Given the description of an element on the screen output the (x, y) to click on. 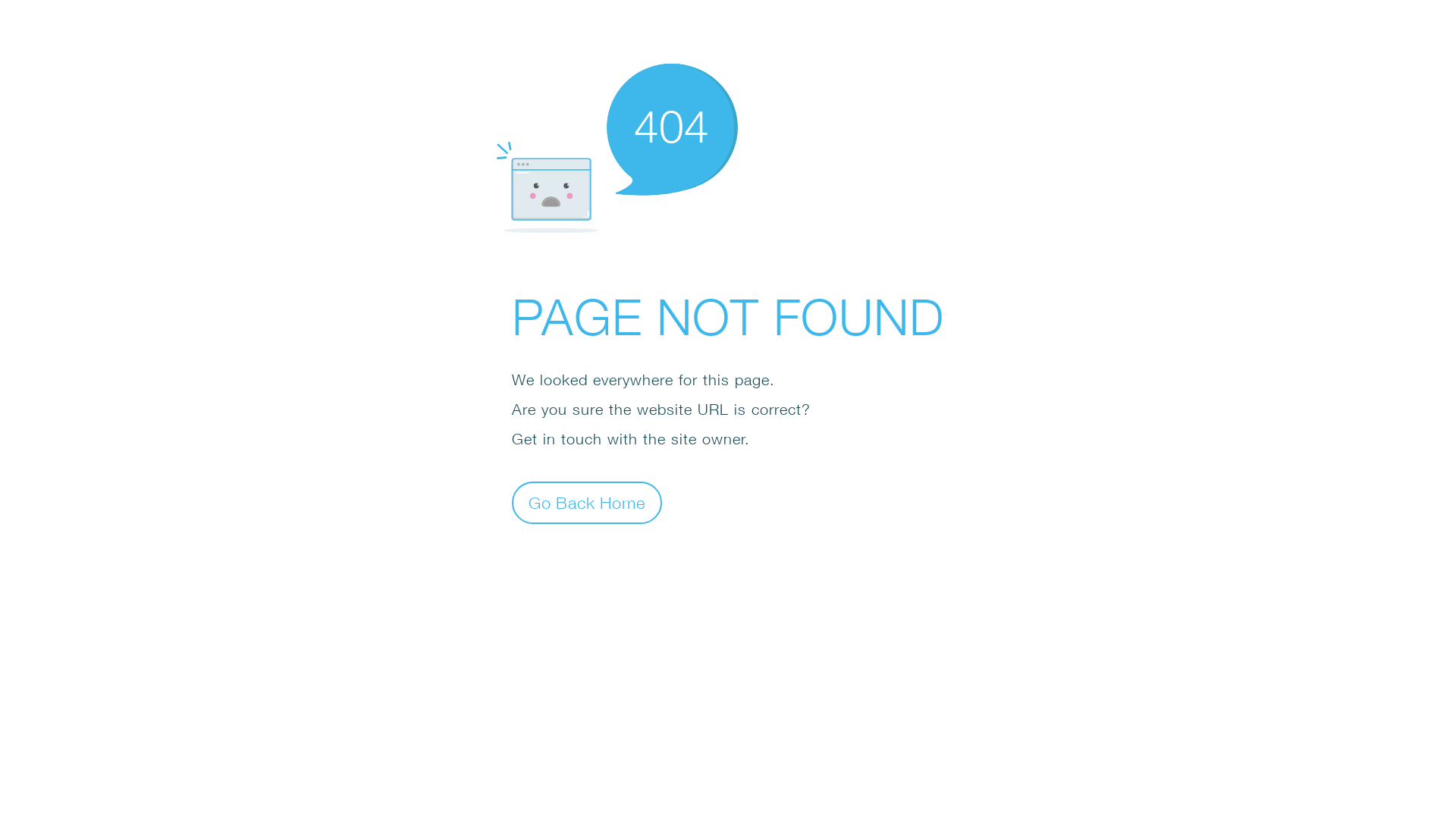
Go Back Home Element type: text (586, 502)
